Given the description of an element on the screen output the (x, y) to click on. 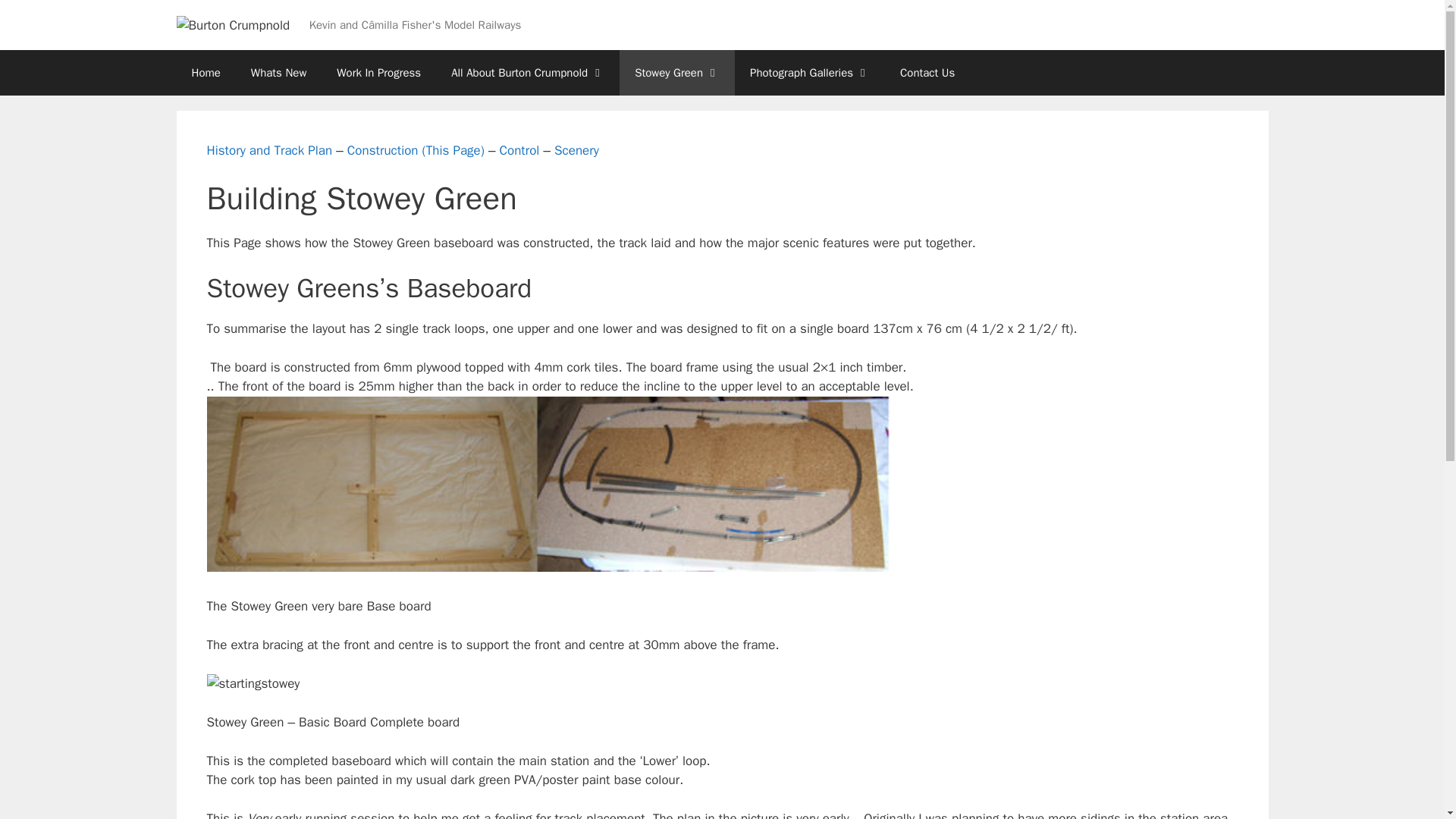
History and Track Plan (268, 150)
Stowey Green (677, 72)
Work In Progress (378, 72)
Contact Us (927, 72)
Control (518, 150)
All About Burton Crumpnold (527, 72)
Photograph Galleries (810, 72)
Scenery (576, 150)
Home (205, 72)
Whats New (278, 72)
